Given the description of an element on the screen output the (x, y) to click on. 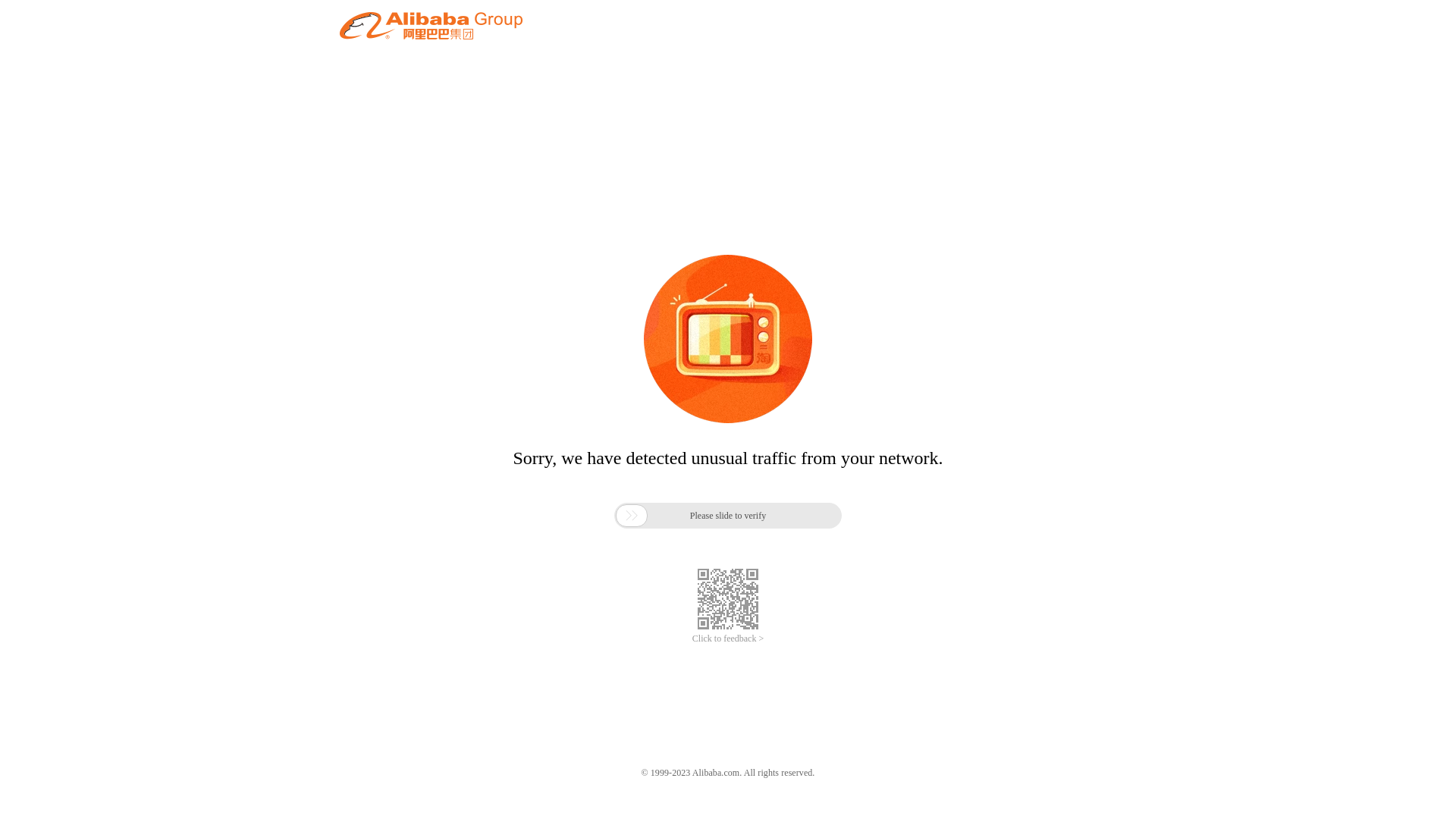
Click to feedback > Element type: text (727, 638)
